Given the description of an element on the screen output the (x, y) to click on. 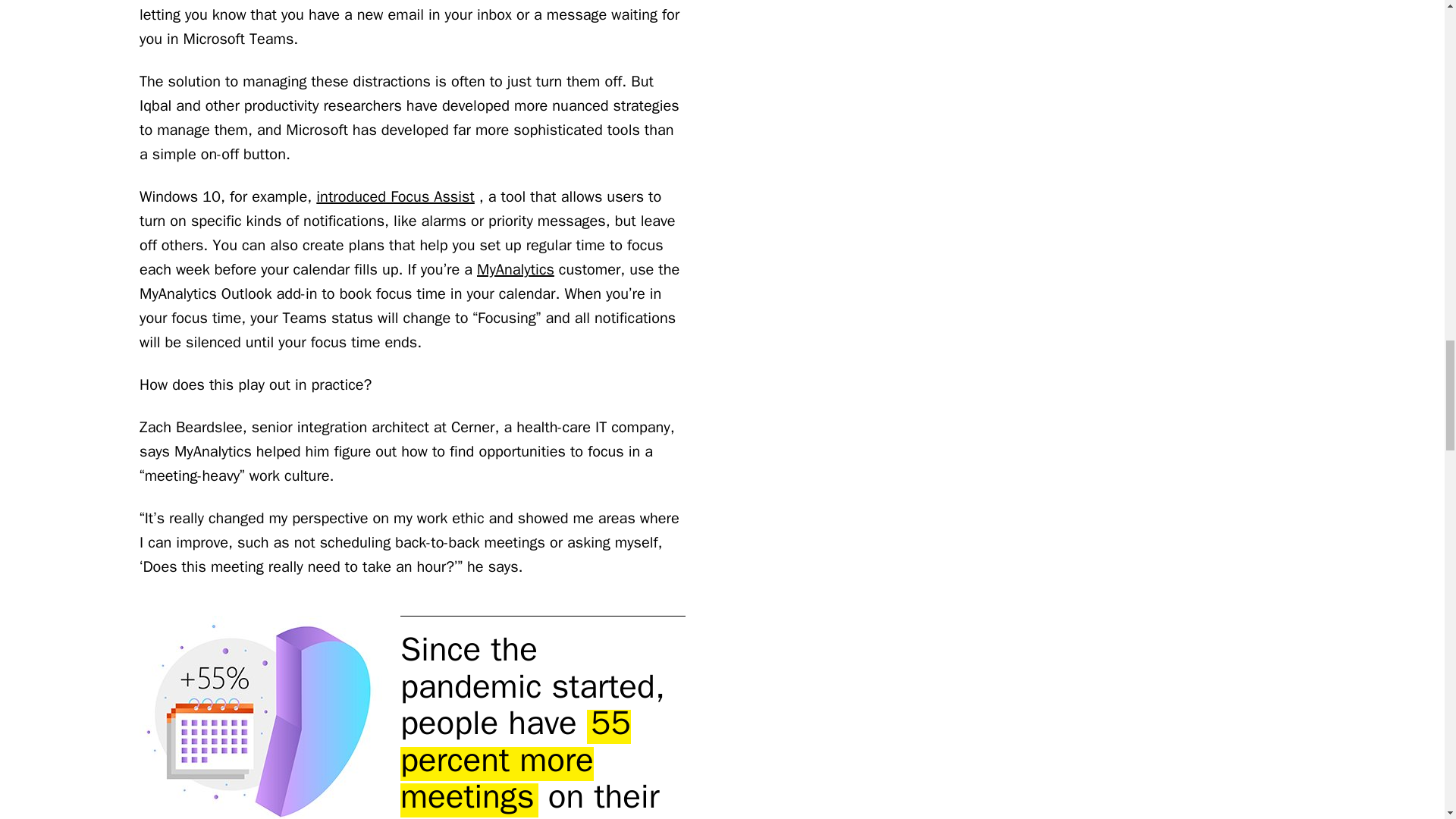
MyAnalytics (515, 269)
introduced Focus Assist (394, 196)
